Given the description of an element on the screen output the (x, y) to click on. 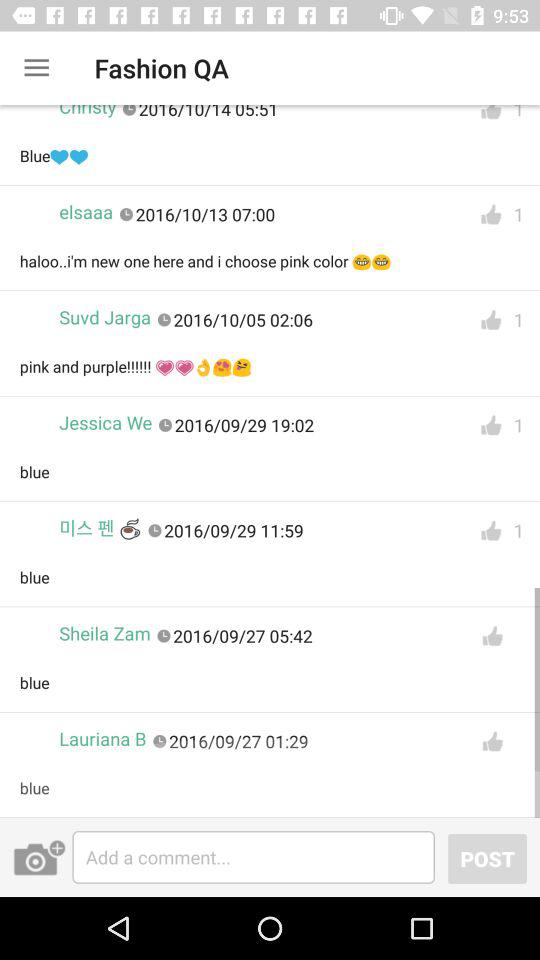
like comment (491, 117)
